Given the description of an element on the screen output the (x, y) to click on. 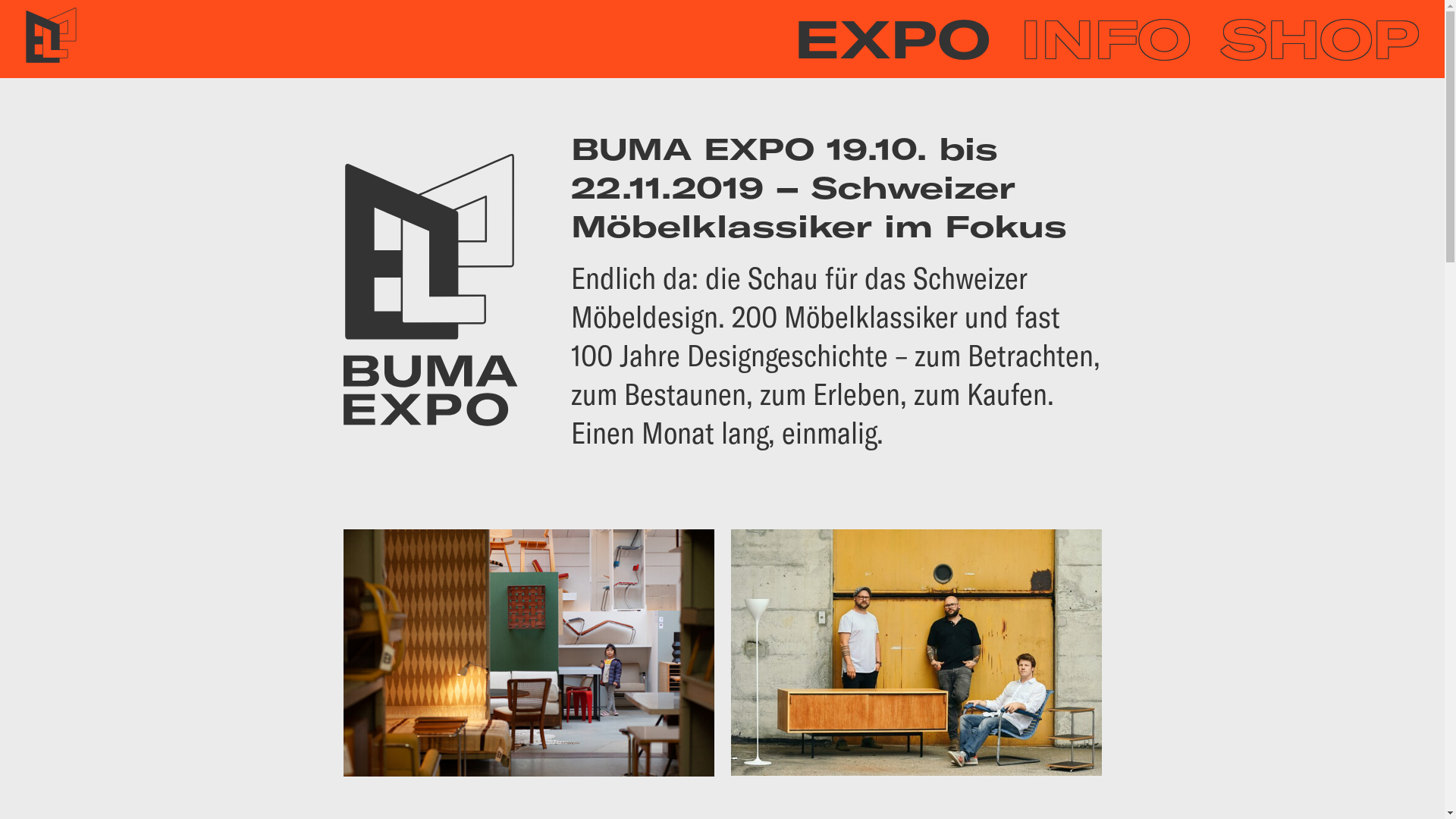
INFO Element type: text (1105, 38)
EXPO Element type: text (891, 38)
SHOP Element type: text (1319, 38)
